Given the description of an element on the screen output the (x, y) to click on. 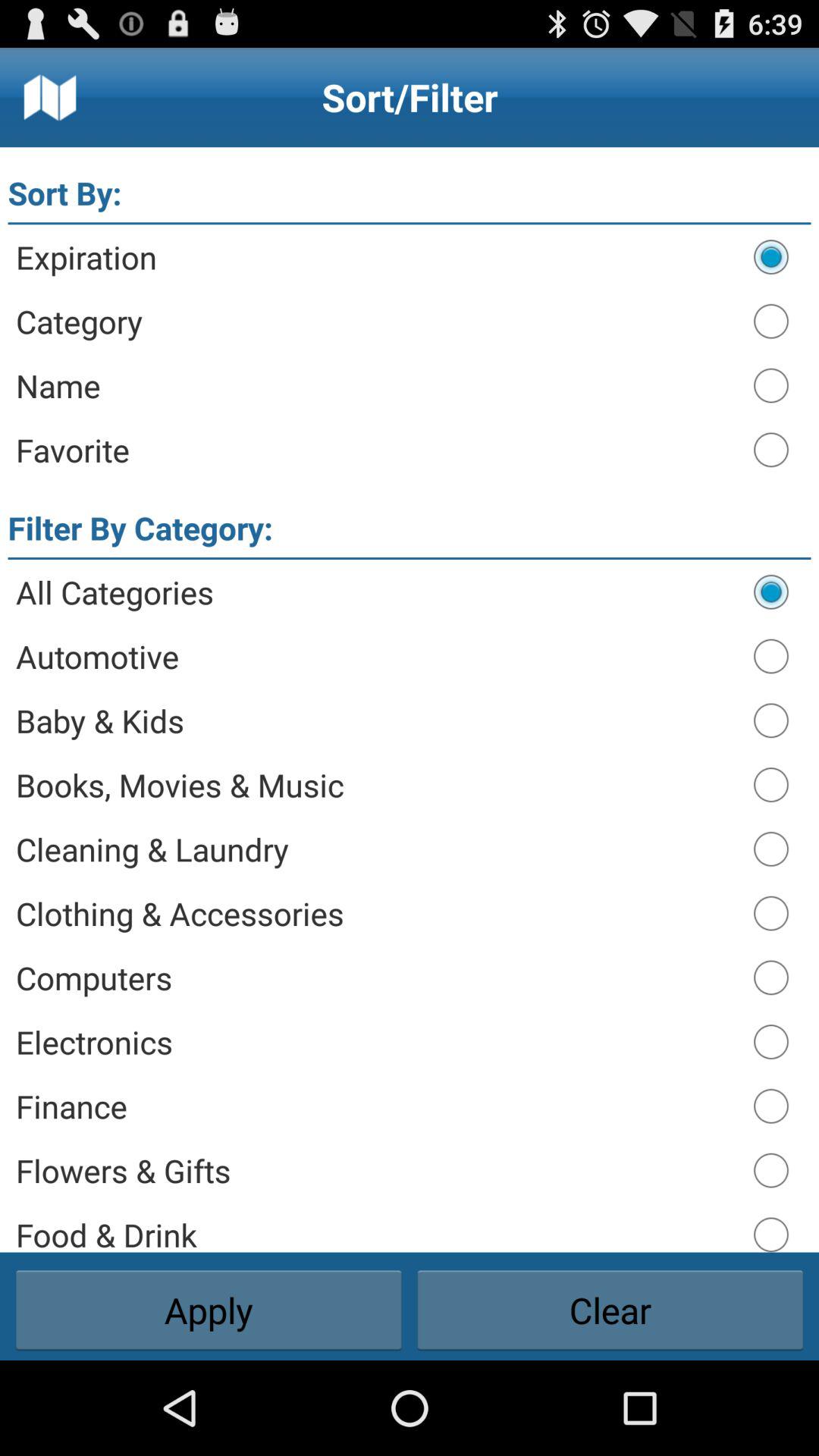
choose icon above sort by: (49, 97)
